Given the description of an element on the screen output the (x, y) to click on. 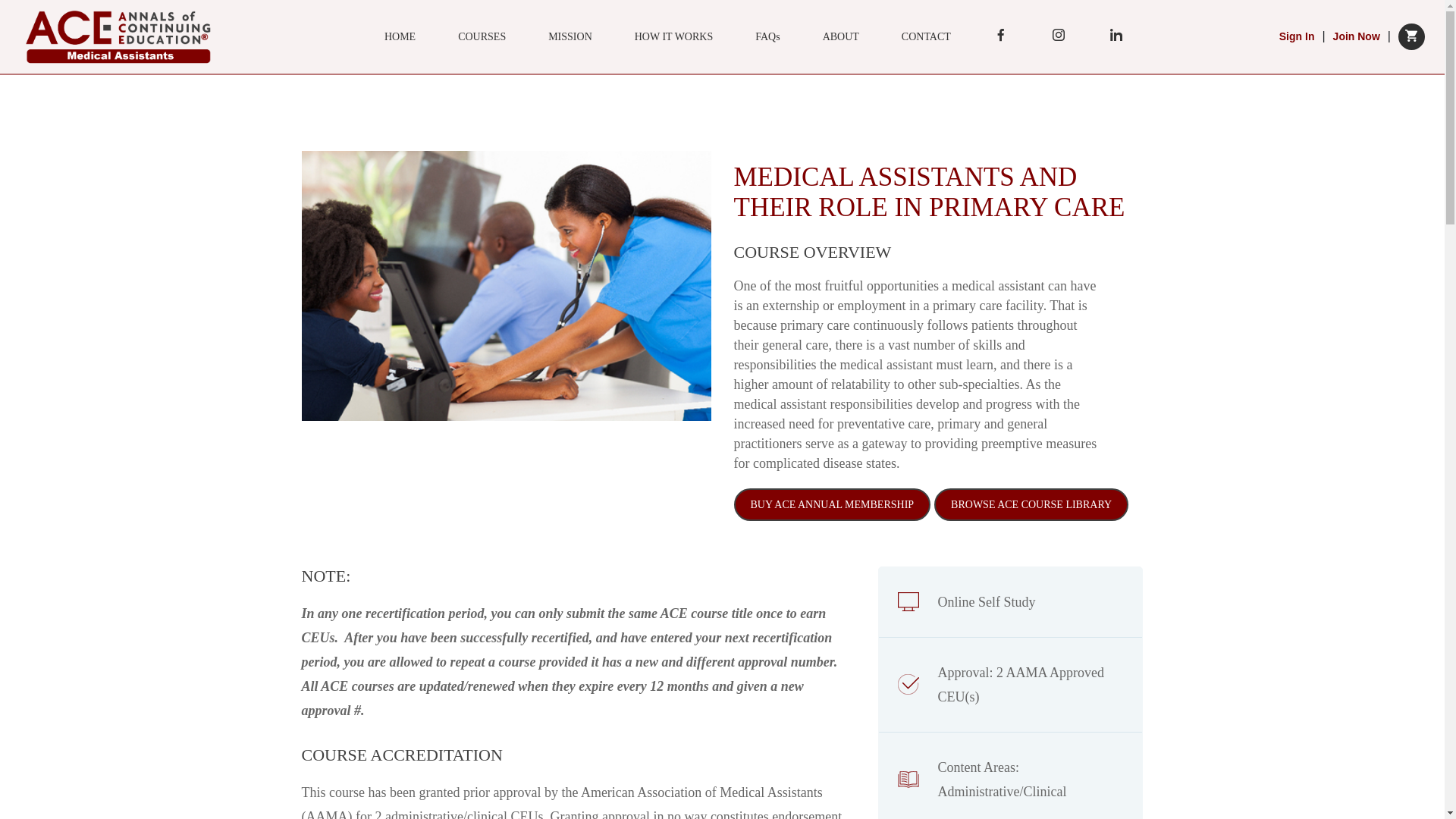
MISSION (569, 36)
COURSES (481, 36)
FAQs (767, 36)
ABOUT (840, 36)
MISSION (569, 36)
FAQs (767, 36)
HOME (400, 36)
HOW IT WORKS (673, 36)
COURSES (481, 36)
HOME (400, 36)
